Given the description of an element on the screen output the (x, y) to click on. 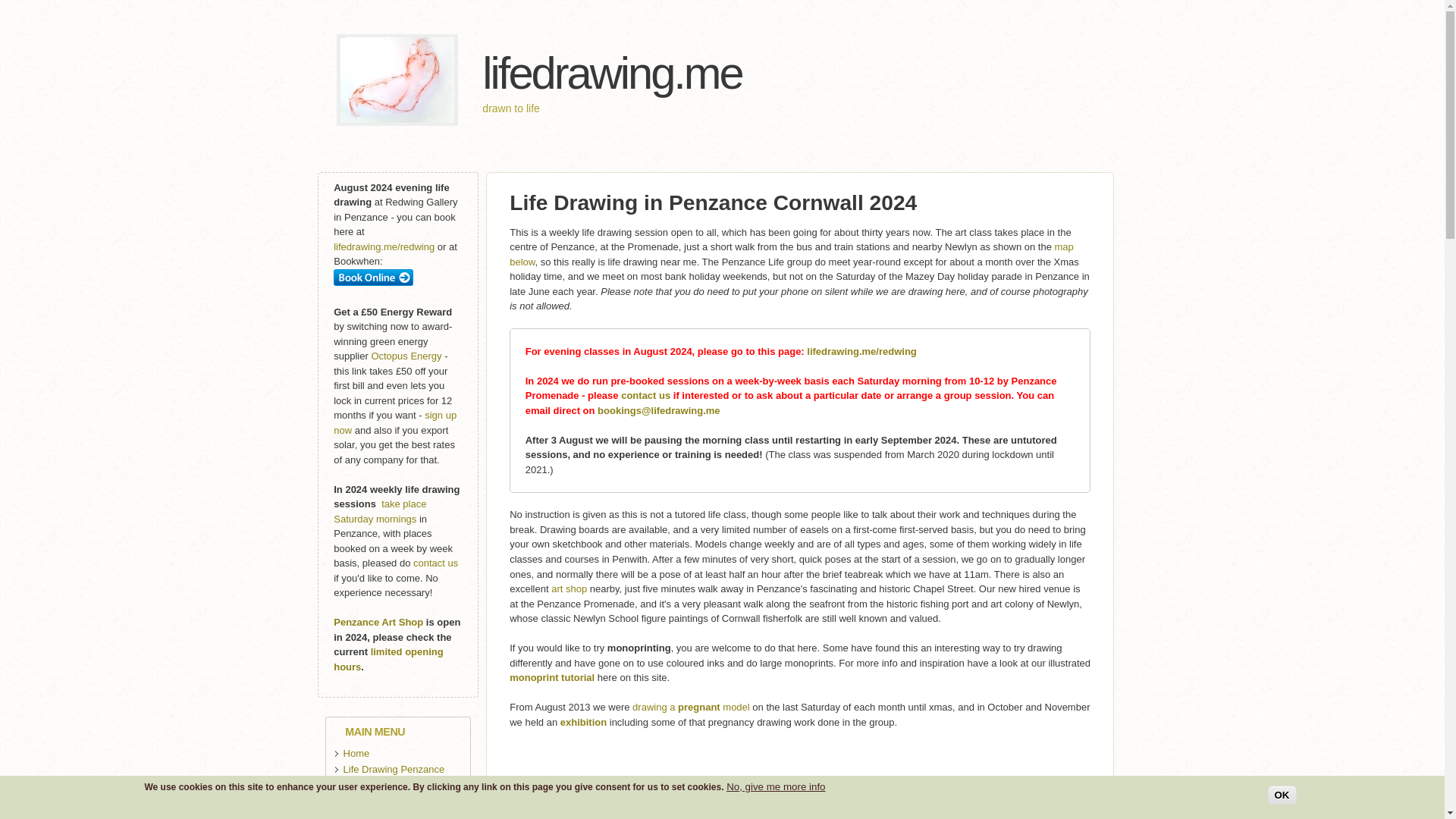
lifedrawing.me (611, 72)
Home page (397, 122)
map below (791, 253)
Home page (611, 72)
drawing a pregnant model (690, 706)
monoprint tutorial (551, 677)
art shop (568, 588)
Life Drawing in Penzance Cornwall 2024 (713, 202)
exhibition (583, 722)
